Given the description of an element on the screen output the (x, y) to click on. 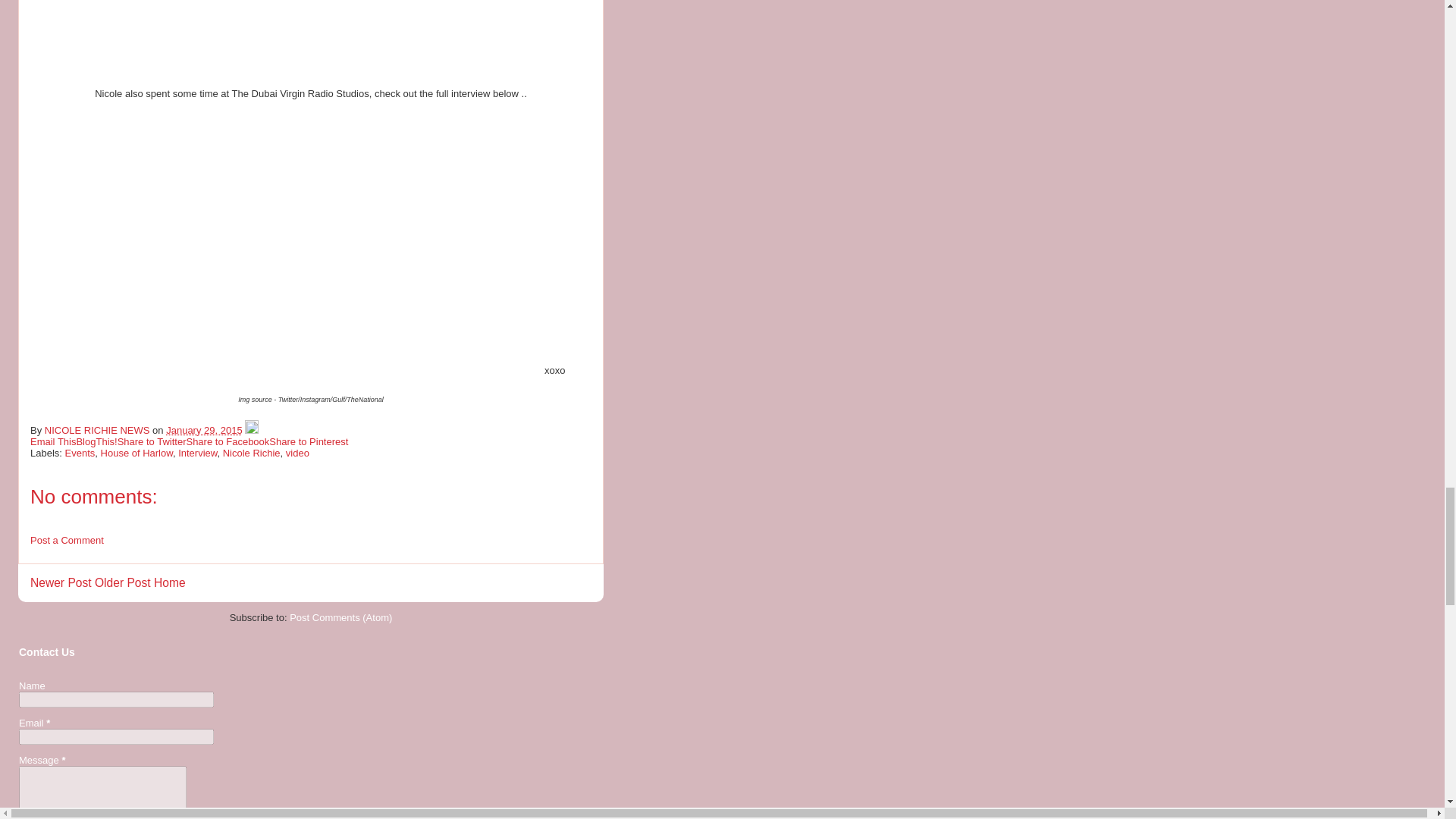
Email This (52, 441)
Email This (52, 441)
Share to Facebook (227, 441)
Share to Pinterest (308, 441)
Share to Twitter (151, 441)
BlogThis! (95, 441)
BlogThis! (95, 441)
author profile (98, 430)
Older Post (122, 582)
Share to Facebook (227, 441)
Nicole Richie (251, 452)
Newer Post (60, 582)
Edit Post (251, 430)
video (296, 452)
Share to Twitter (151, 441)
